Given the description of an element on the screen output the (x, y) to click on. 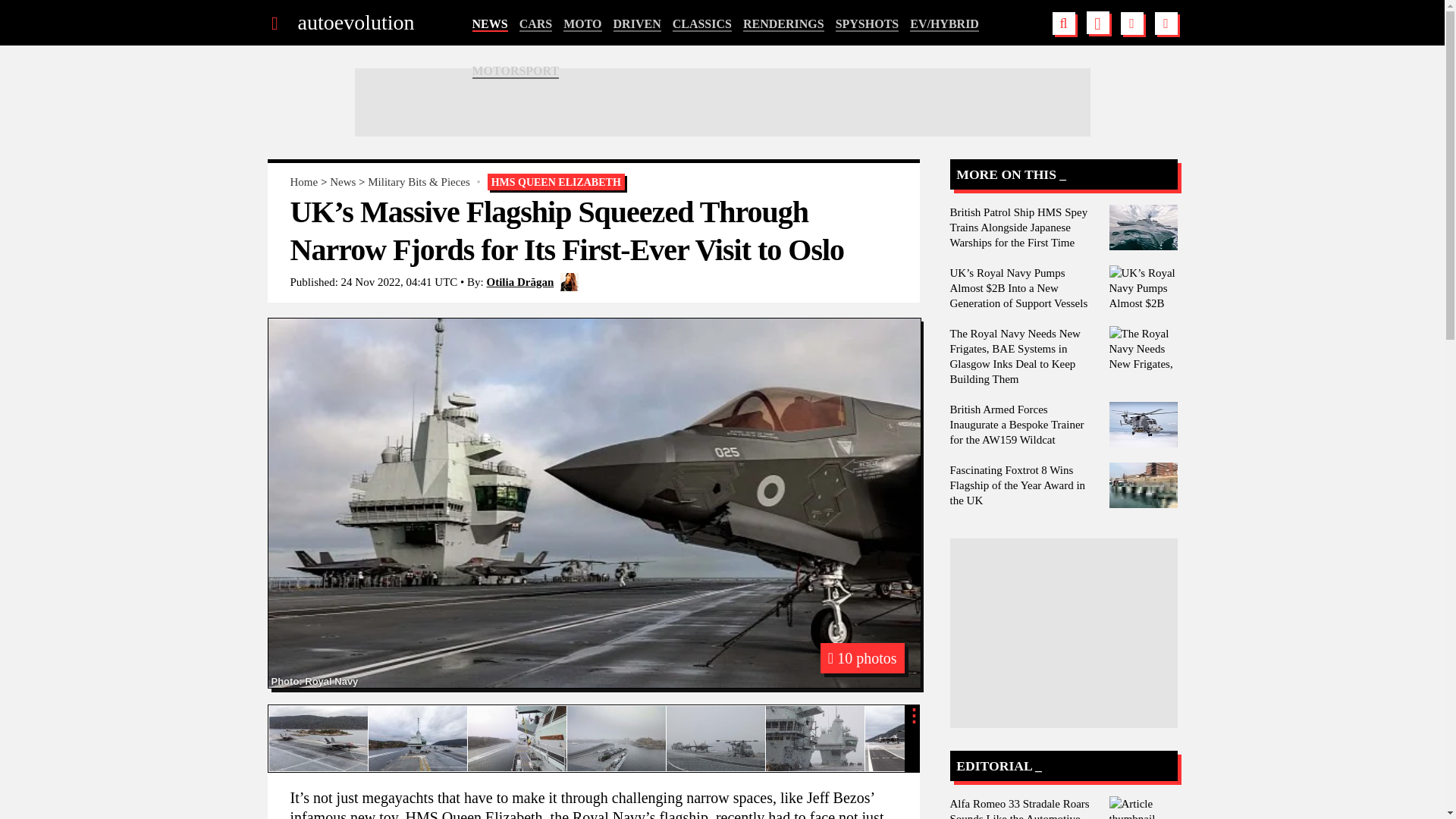
autoevolution (355, 22)
CLASSICS (702, 24)
SPYSHOTS (867, 24)
NEWS (488, 24)
DRIVEN (636, 24)
MOTO (582, 24)
RENDERINGS (783, 24)
MOTORSPORT (515, 71)
Home (303, 182)
News (342, 182)
autoevolution (355, 22)
CARS (536, 24)
